Given the description of an element on the screen output the (x, y) to click on. 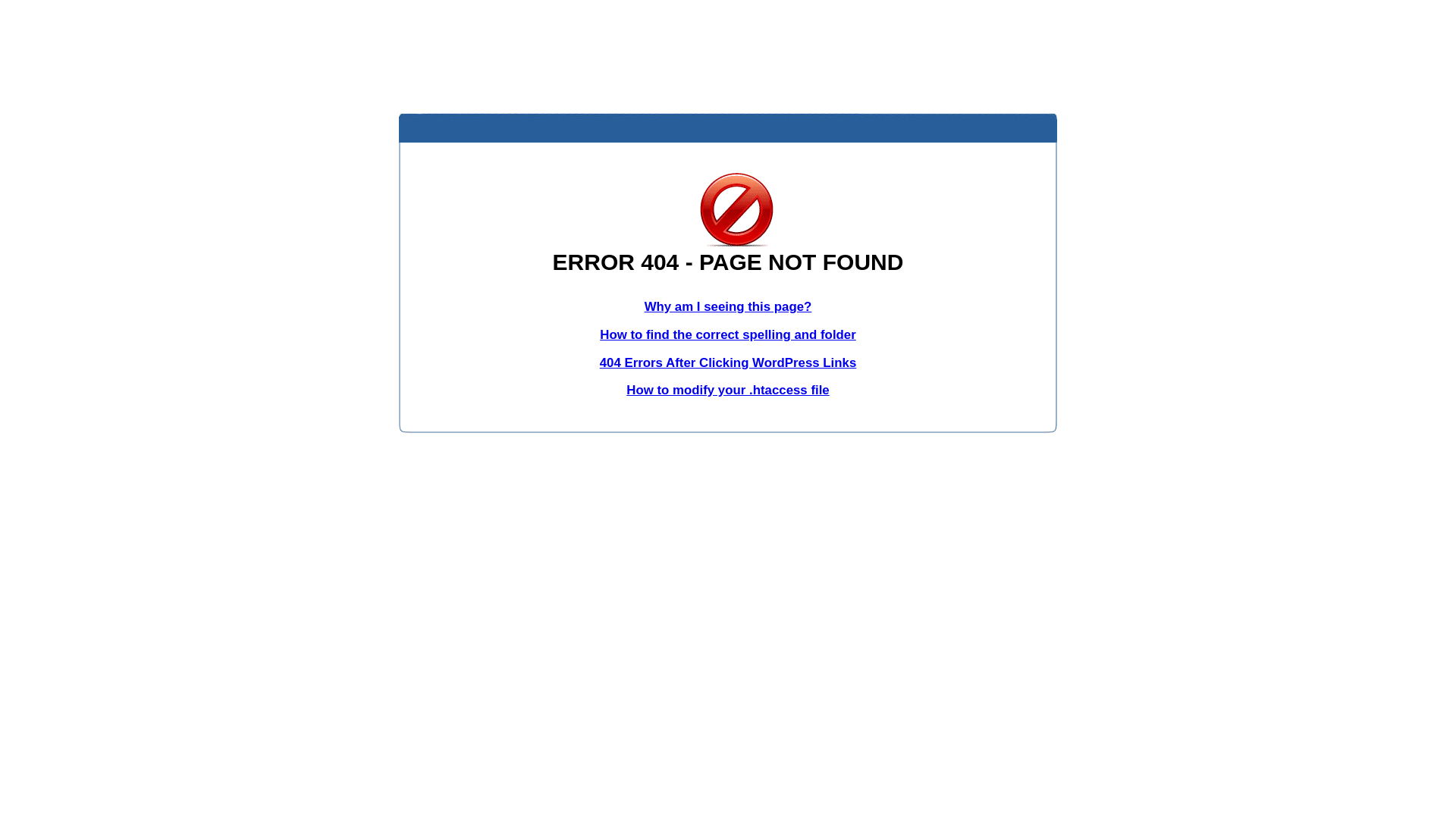
404 Errors After Clicking WordPress Links Element type: text (727, 362)
Why am I seeing this page? Element type: text (728, 306)
How to find the correct spelling and folder Element type: text (727, 334)
How to modify your .htaccess file Element type: text (727, 389)
